Given the description of an element on the screen output the (x, y) to click on. 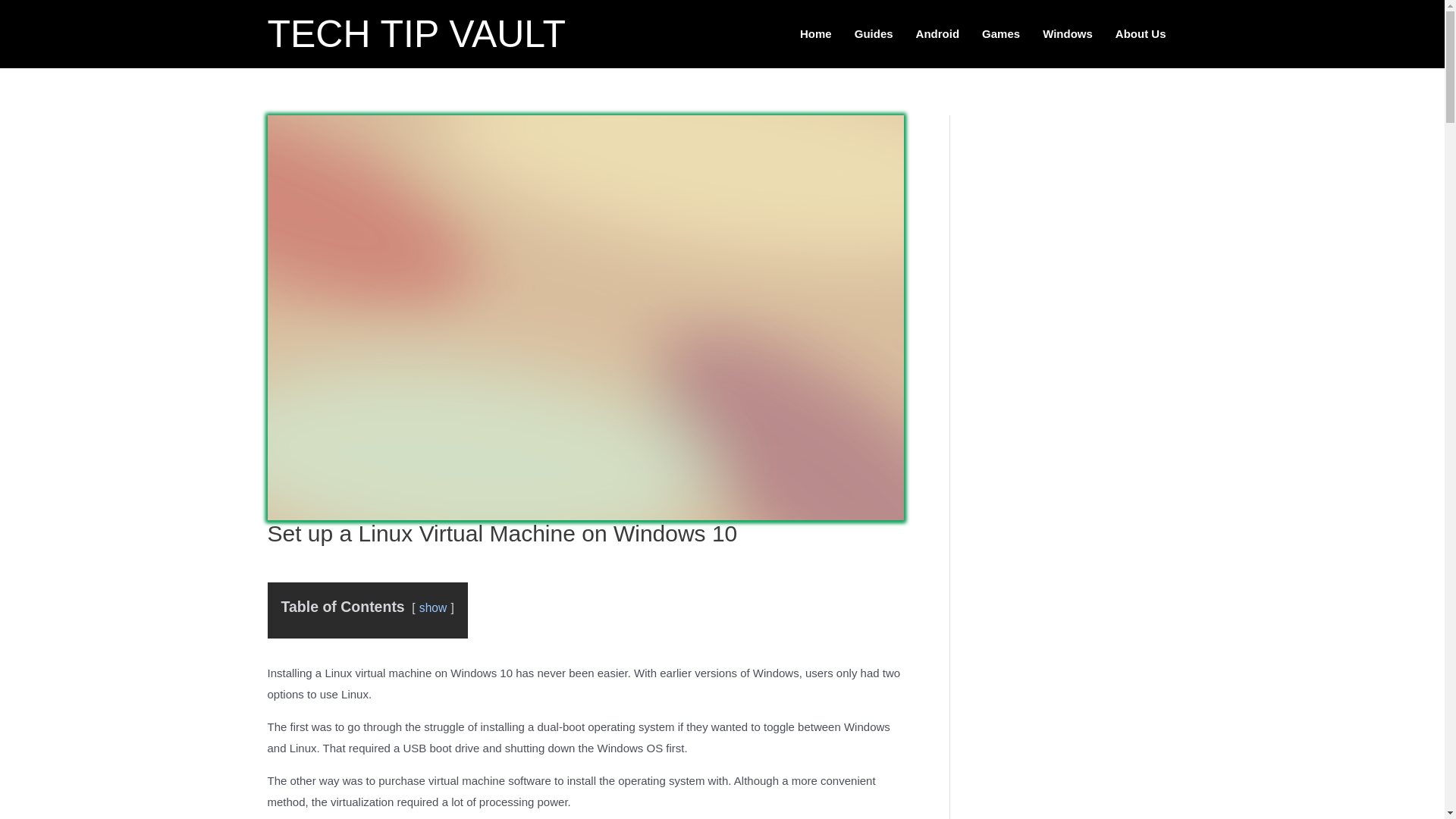
Windows (1066, 33)
Android (937, 33)
show (432, 607)
About Us (1140, 33)
TECH TIP VAULT (415, 34)
Guides (873, 33)
